Given the description of an element on the screen output the (x, y) to click on. 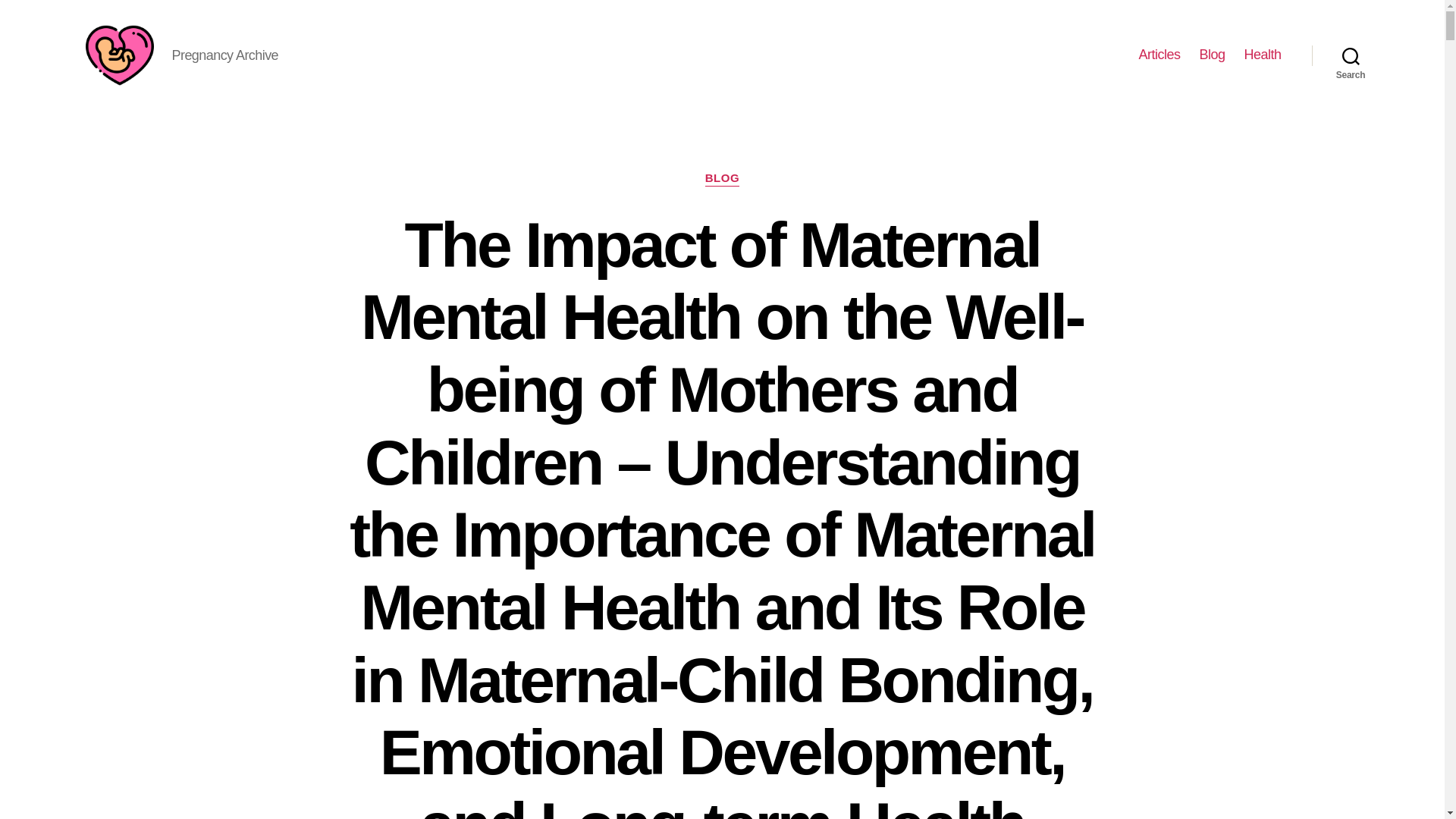
Health (1262, 54)
BLOG (721, 178)
Blog (1211, 54)
Articles (1158, 54)
Search (1350, 55)
